Given the description of an element on the screen output the (x, y) to click on. 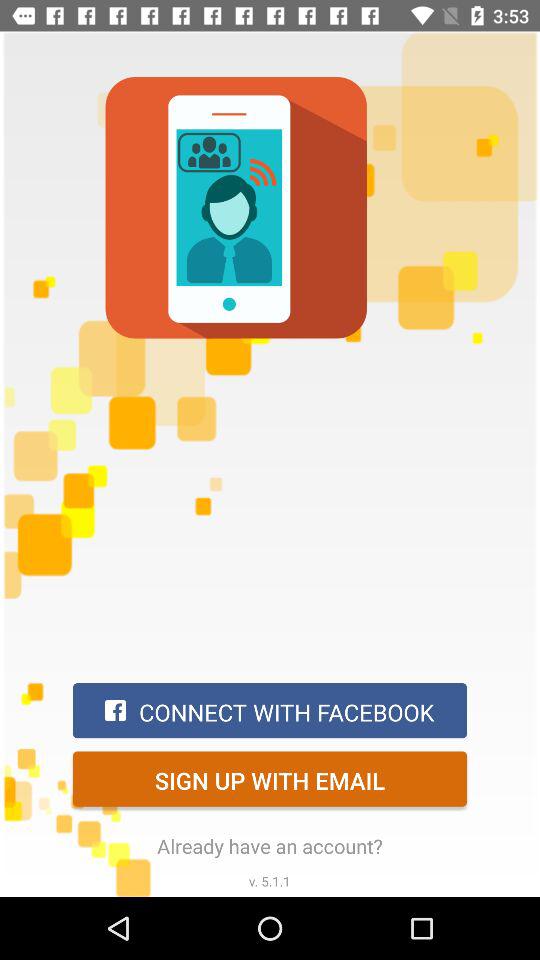
click icon above v 5 1 item (270, 845)
